Given the description of an element on the screen output the (x, y) to click on. 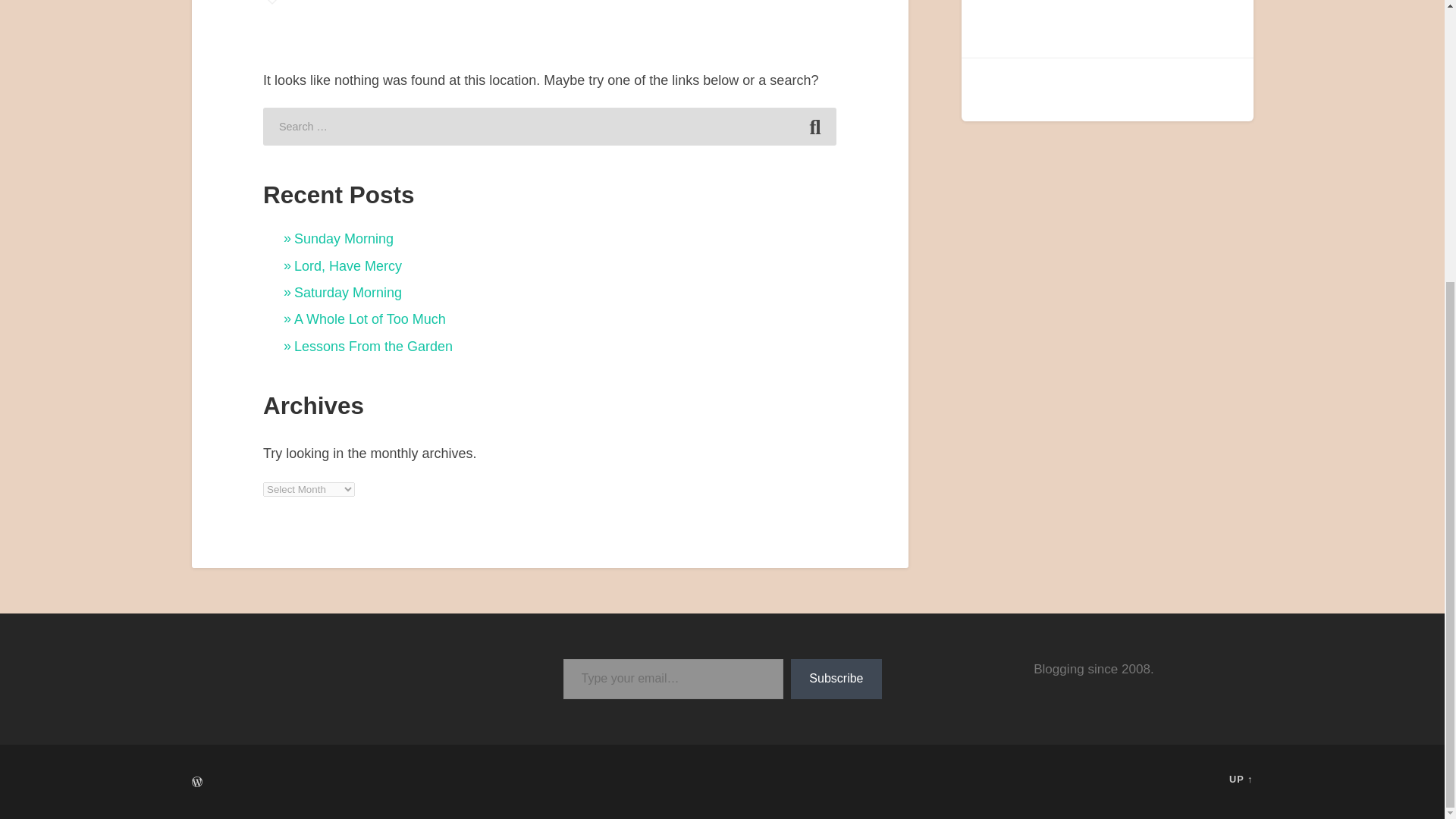
Create a website or blog at WordPress.com (196, 782)
To the top (1240, 778)
Subscribe (835, 679)
A Whole Lot of Too Much (369, 319)
Sunday Morning (343, 238)
CREATE A WEBSITE OR BLOG AT WORDPRESS.COM (196, 781)
Saturday Morning (347, 292)
Search (815, 126)
Search (815, 126)
Lessons From the Garden (373, 346)
Follow Button (1107, 23)
Please fill in this field. (672, 679)
Lord, Have Mercy (347, 265)
Search (815, 126)
Follow Button (349, 666)
